Given the description of an element on the screen output the (x, y) to click on. 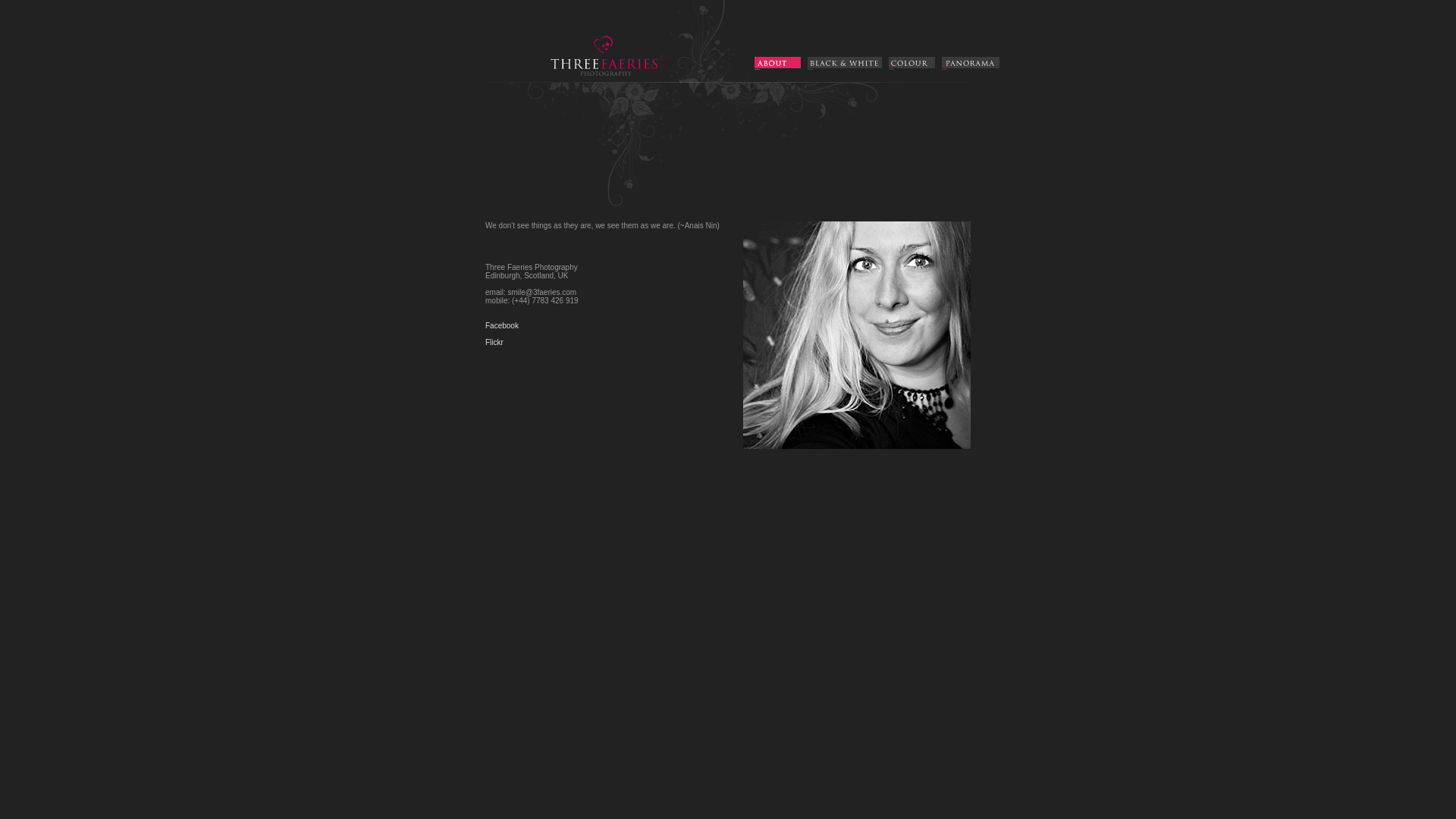
Facebook Element type: text (501, 325)
Three Faeries : Aleksandra Gruszczynska Photography Element type: hover (597, 79)
Flickr Element type: text (494, 342)
